Given the description of an element on the screen output the (x, y) to click on. 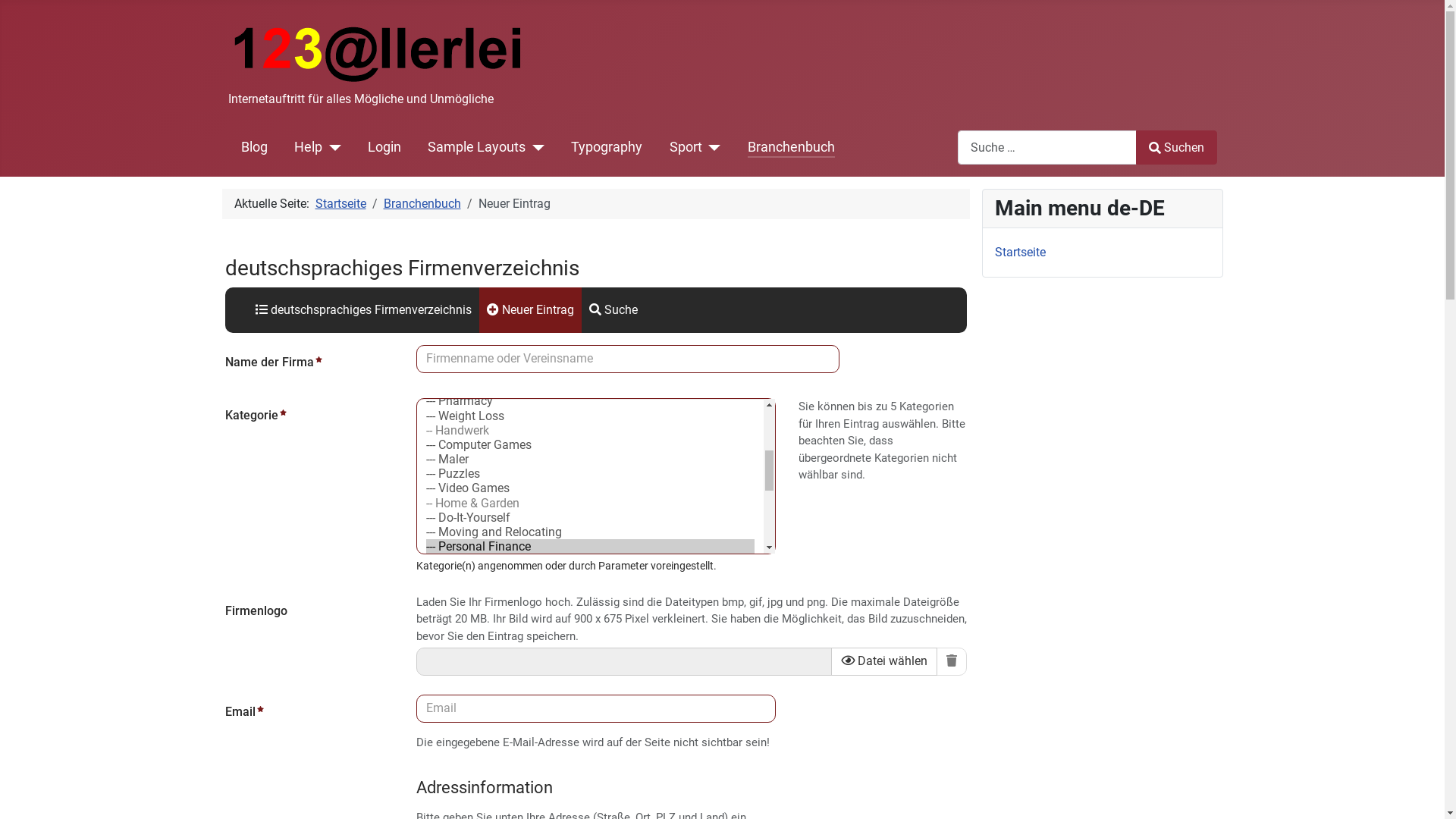
Sample Layouts Element type: text (485, 146)
Suchen Element type: text (1175, 147)
Startseite Element type: text (340, 203)
Branchenbuch Element type: text (422, 203)
deutschsprachiges Firmenverzeichnis Element type: text (362, 309)
Sport Element type: text (685, 146)
Typography Element type: text (606, 146)
Branchenbuch Element type: text (790, 146)
Login Element type: text (384, 146)
(current)
Neuer Eintrag Element type: text (530, 309)
Startseite Element type: text (1019, 251)
Help Element type: text (308, 146)
Blog Element type: text (254, 146)
Suche Element type: text (612, 309)
